Given the description of an element on the screen output the (x, y) to click on. 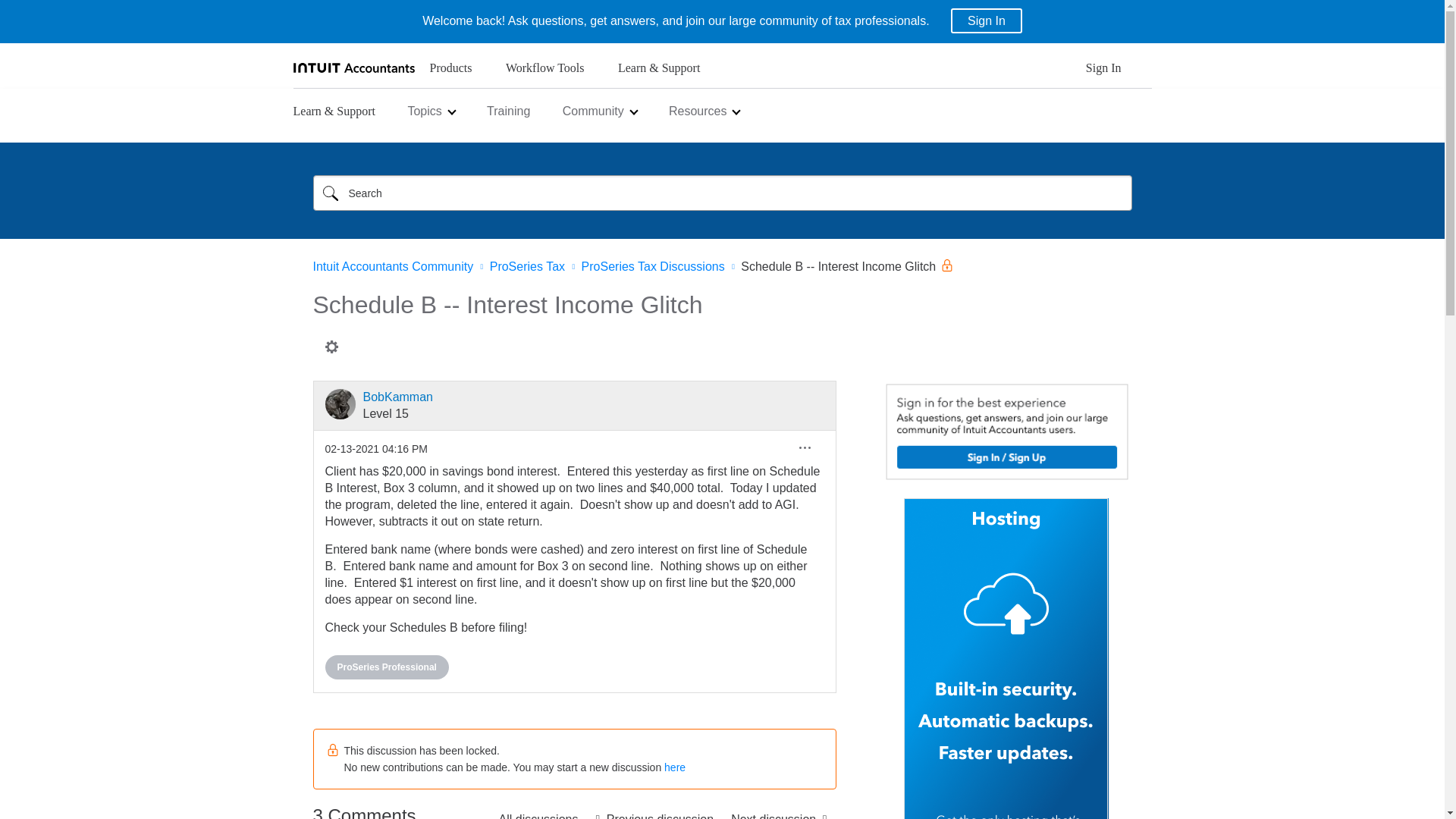
Show option menu (331, 346)
BobKamman (339, 404)
Posted on (375, 449)
Can't print Client  Specific Letters (654, 811)
Sign In (986, 20)
Search (722, 192)
fast path expired (778, 811)
Show option menu (805, 447)
Search (330, 192)
Sign In (1103, 72)
Search (330, 192)
ProSeries Tax Discussions (538, 811)
